Given the description of an element on the screen output the (x, y) to click on. 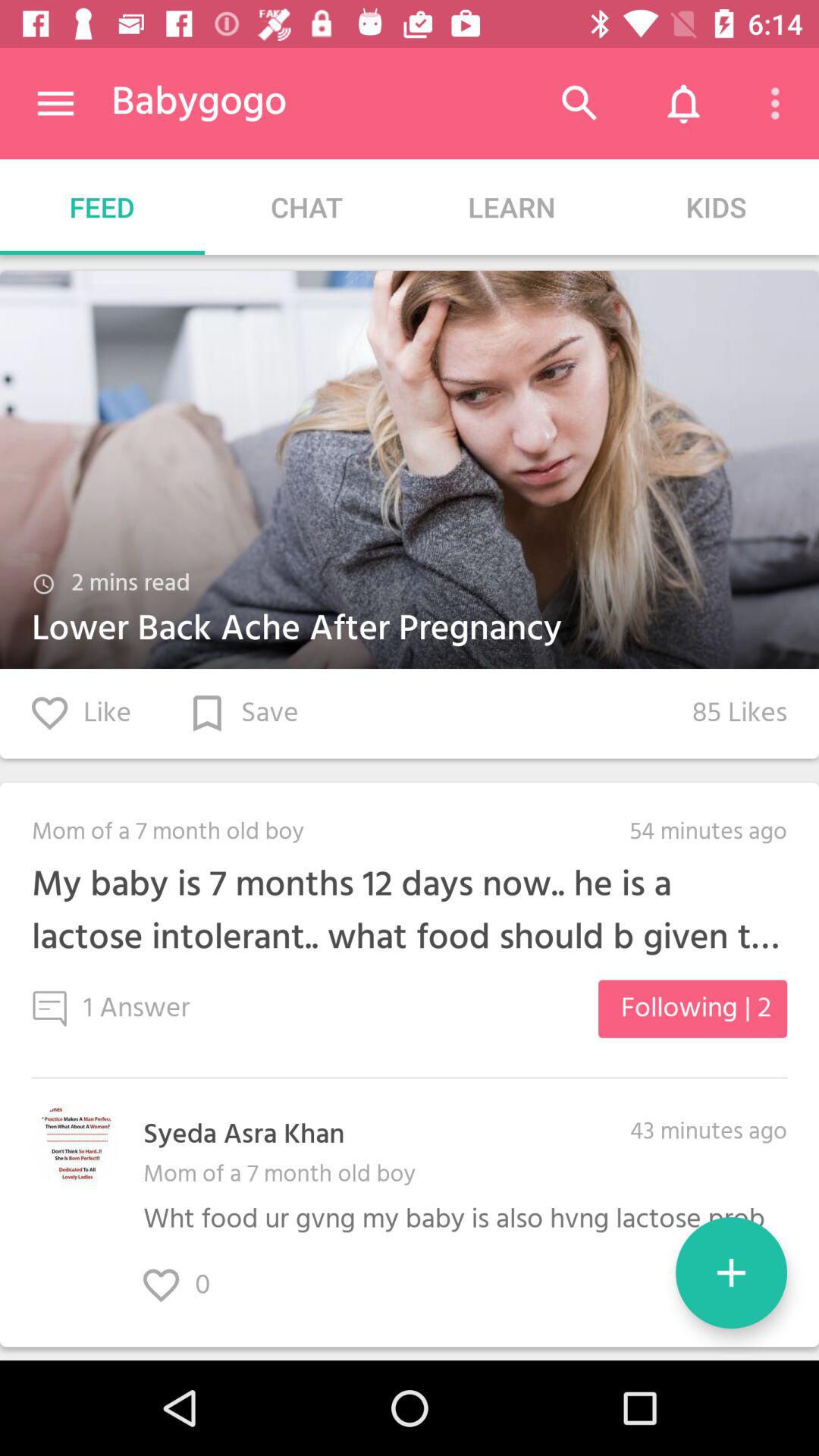
launch icon above the feed (55, 103)
